Given the description of an element on the screen output the (x, y) to click on. 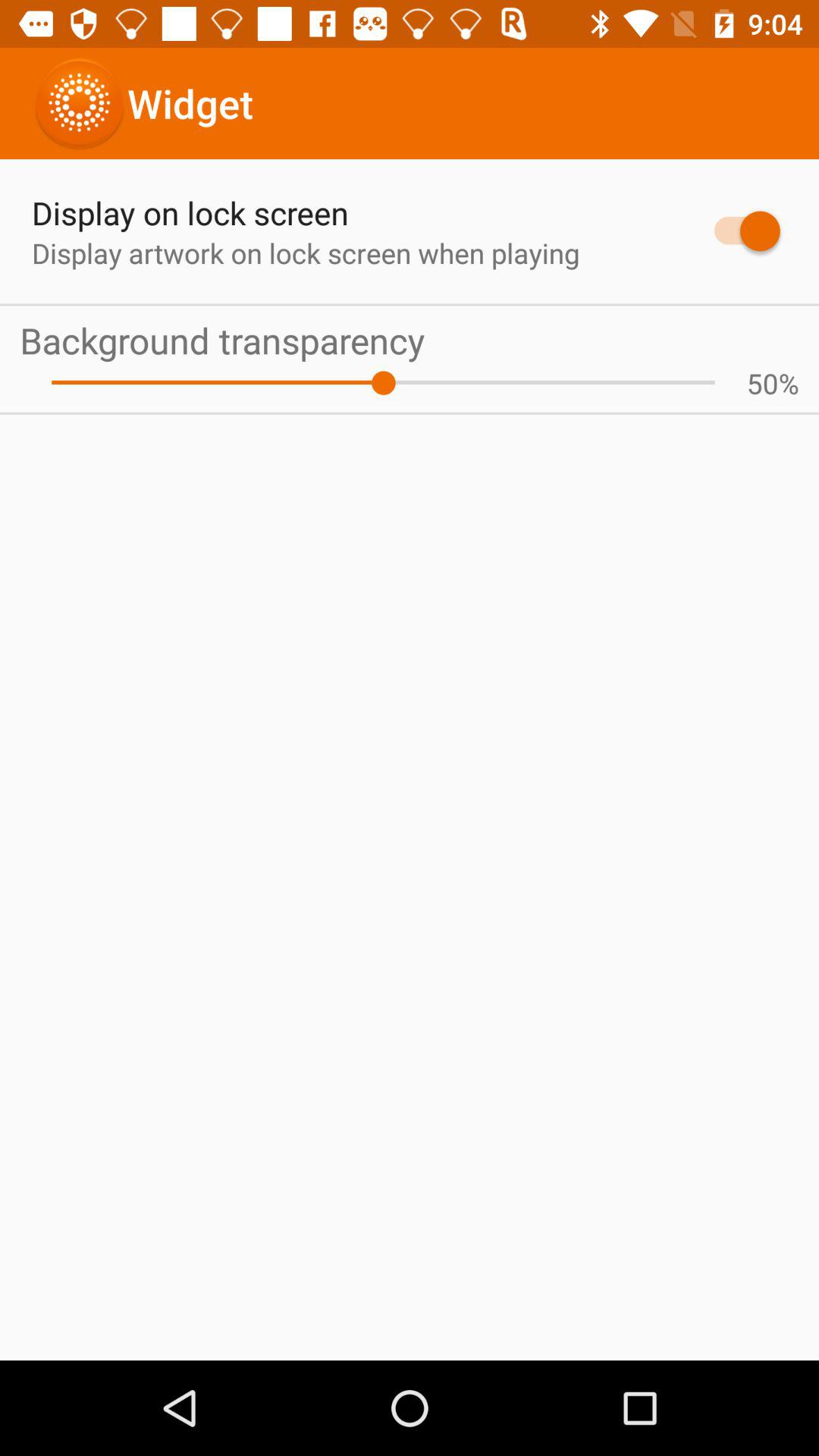
launch 50 (762, 383)
